Given the description of an element on the screen output the (x, y) to click on. 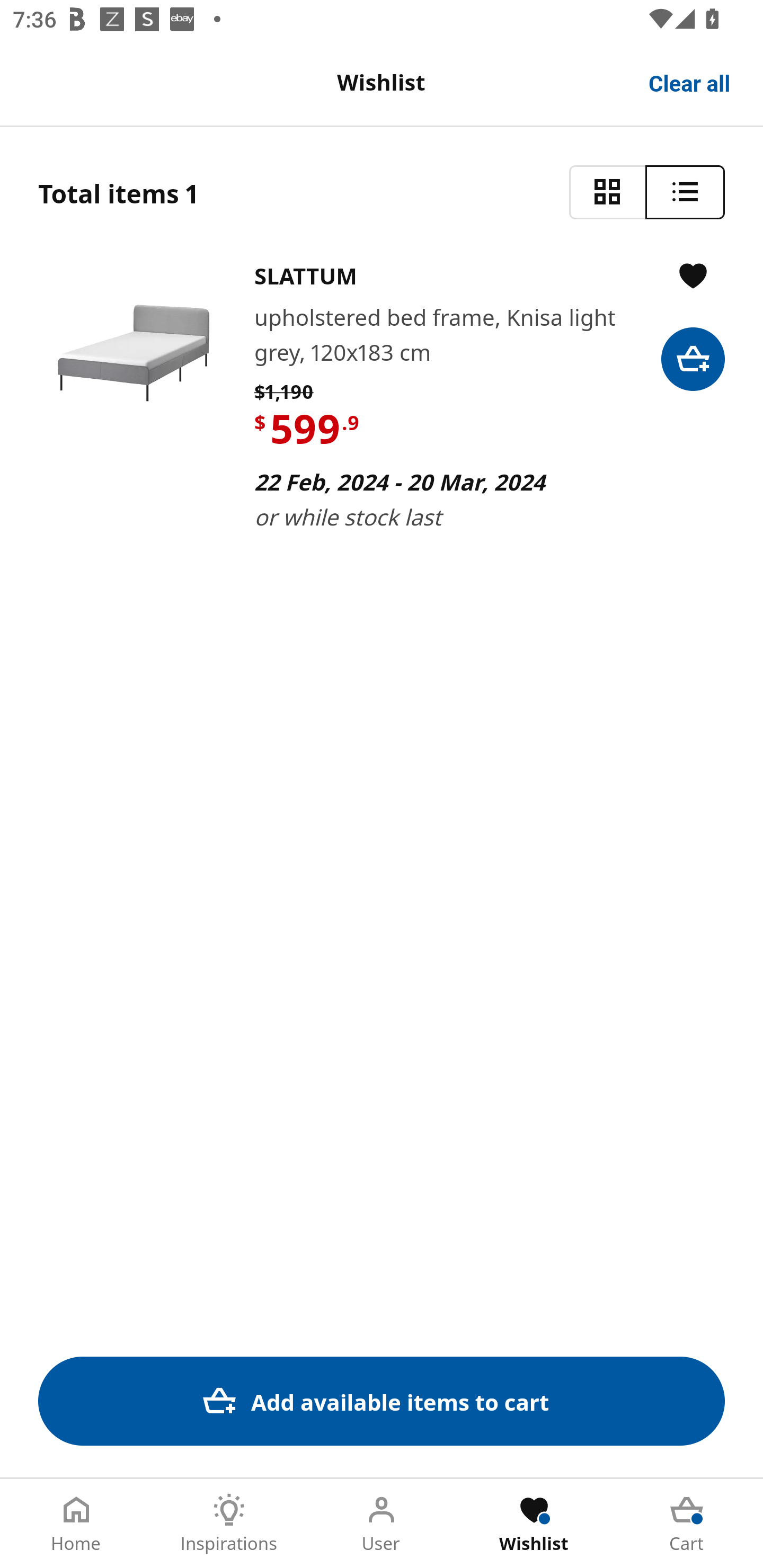
Clear all (689, 81)
Add available items to cart (381, 1400)
Home
Tab 1 of 5 (76, 1522)
Inspirations
Tab 2 of 5 (228, 1522)
User
Tab 3 of 5 (381, 1522)
Wishlist
Tab 4 of 5 (533, 1522)
Cart
Tab 5 of 5 (686, 1522)
